Given the description of an element on the screen output the (x, y) to click on. 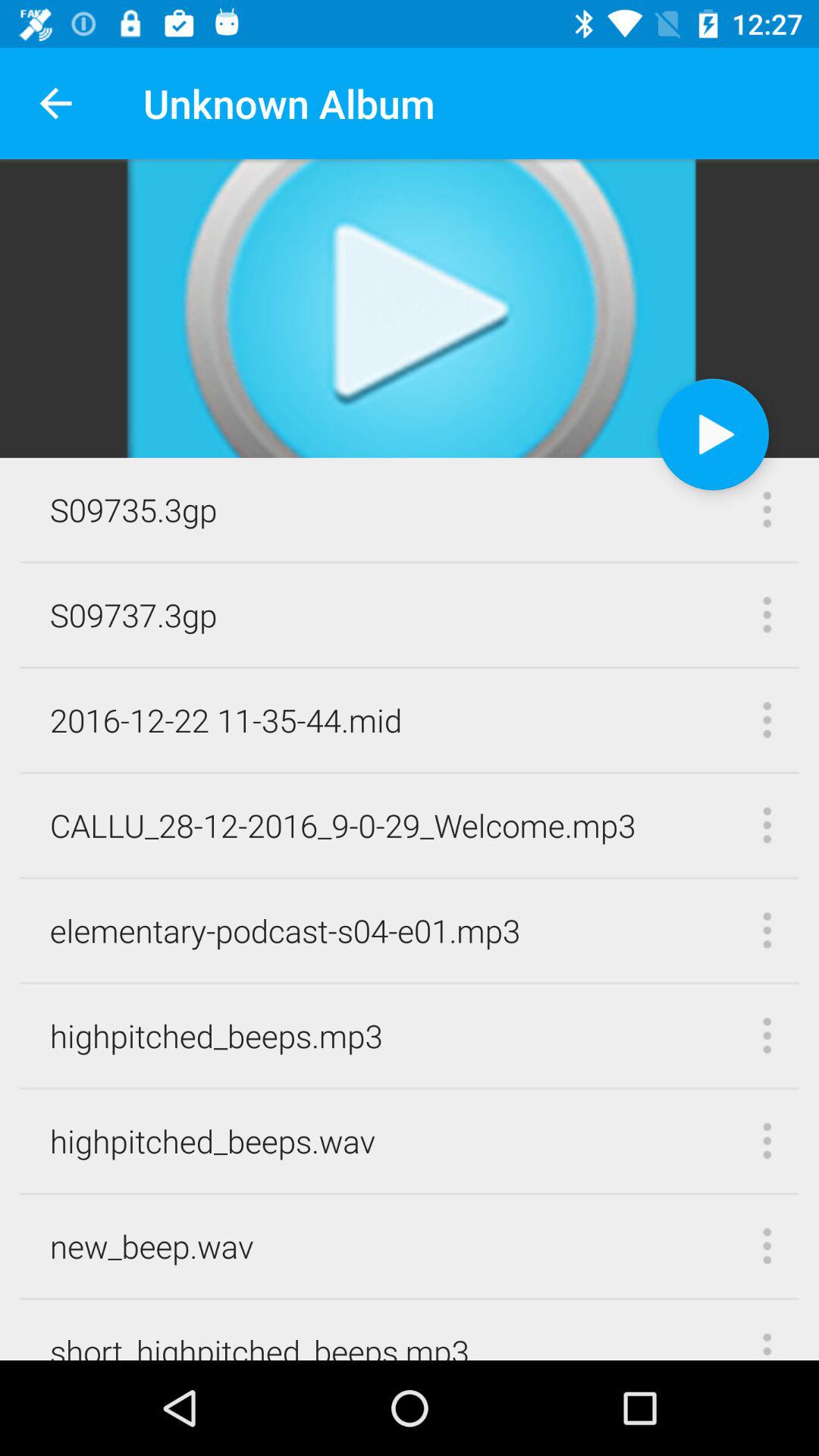
press new_beep.wav icon (151, 1245)
